Given the description of an element on the screen output the (x, y) to click on. 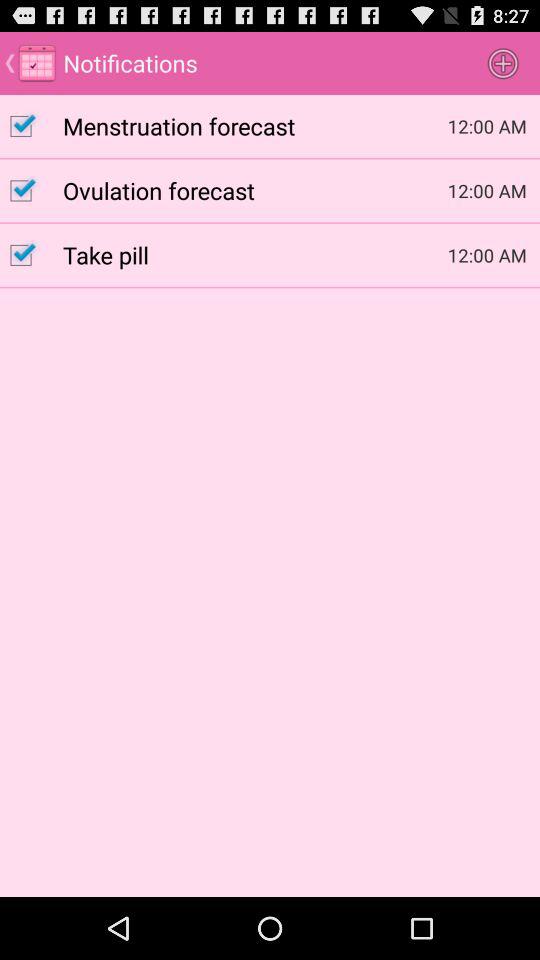
click app to the left of 12:00 am app (255, 254)
